Given the description of an element on the screen output the (x, y) to click on. 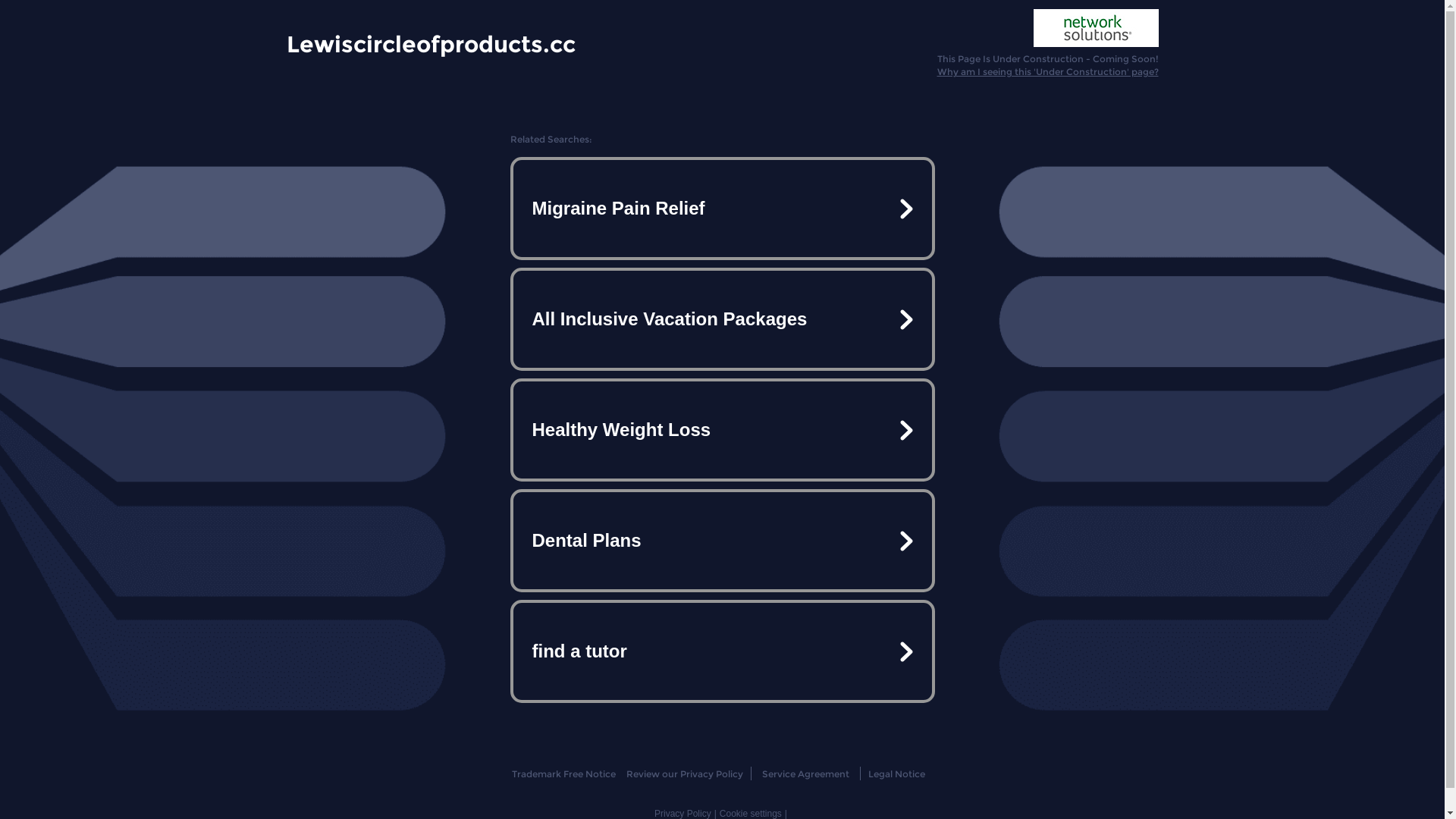
find a tutor Element type: text (721, 650)
Lewiscircleofproducts.cc Element type: text (430, 43)
Healthy Weight Loss Element type: text (721, 429)
All Inclusive Vacation Packages Element type: text (721, 318)
Service Agreement Element type: text (805, 773)
Review our Privacy Policy Element type: text (684, 773)
Why am I seeing this 'Under Construction' page? Element type: text (1047, 71)
Legal Notice Element type: text (896, 773)
Trademark Free Notice Element type: text (563, 773)
Dental Plans Element type: text (721, 540)
Migraine Pain Relief Element type: text (721, 208)
